Given the description of an element on the screen output the (x, y) to click on. 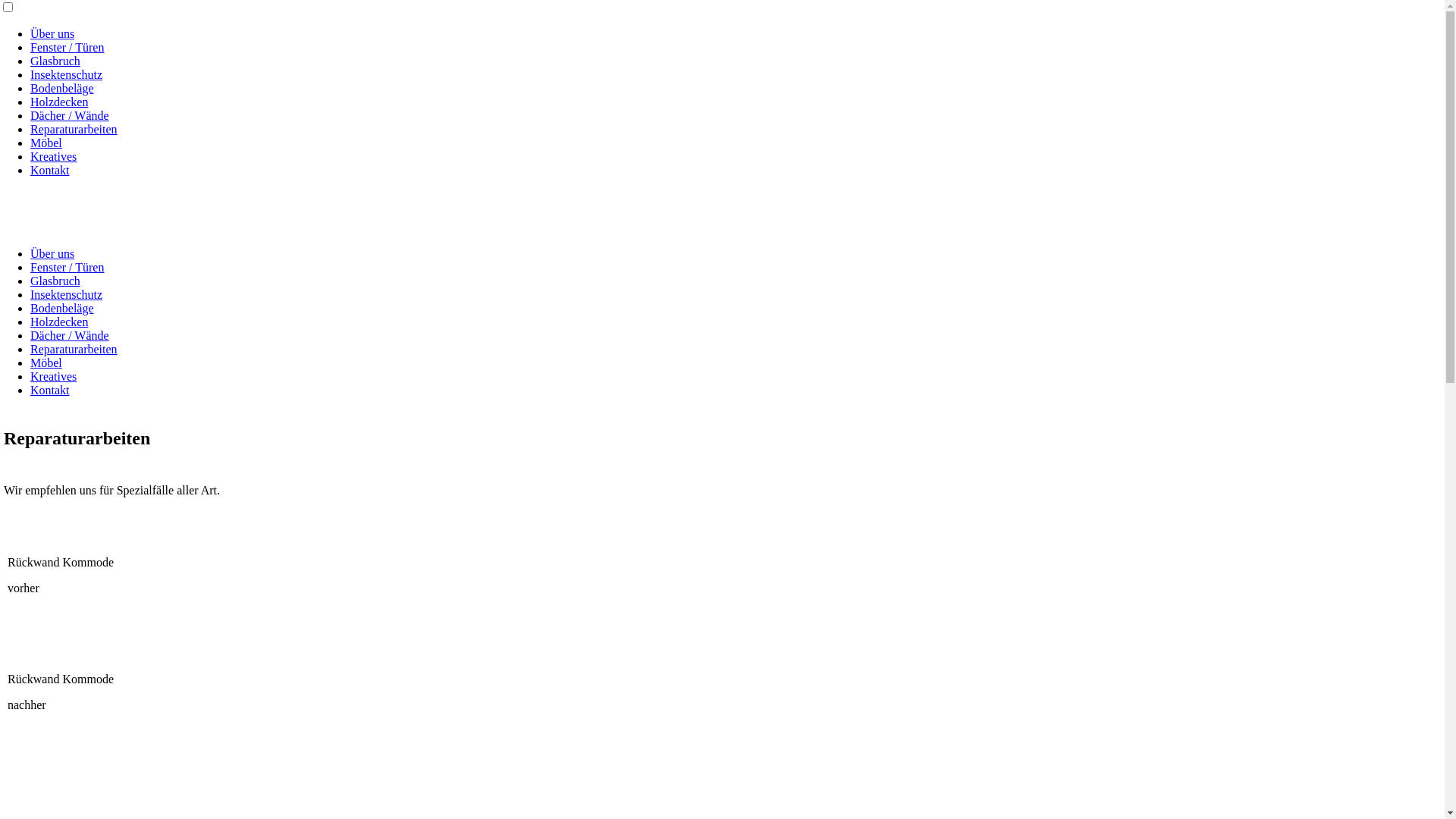
Insektenschutz Element type: text (66, 294)
Glasbruch Element type: text (55, 60)
Reparaturarbeiten Element type: text (73, 348)
Kreatives Element type: text (53, 156)
Insektenschutz Element type: text (66, 74)
Glasbruch Element type: text (55, 280)
Holzdecken Element type: text (58, 101)
Kontakt Element type: text (49, 389)
Reparaturarbeiten Element type: text (73, 128)
Holzdecken Element type: text (58, 321)
Kontakt Element type: text (49, 169)
Kreatives Element type: text (53, 376)
